Given the description of an element on the screen output the (x, y) to click on. 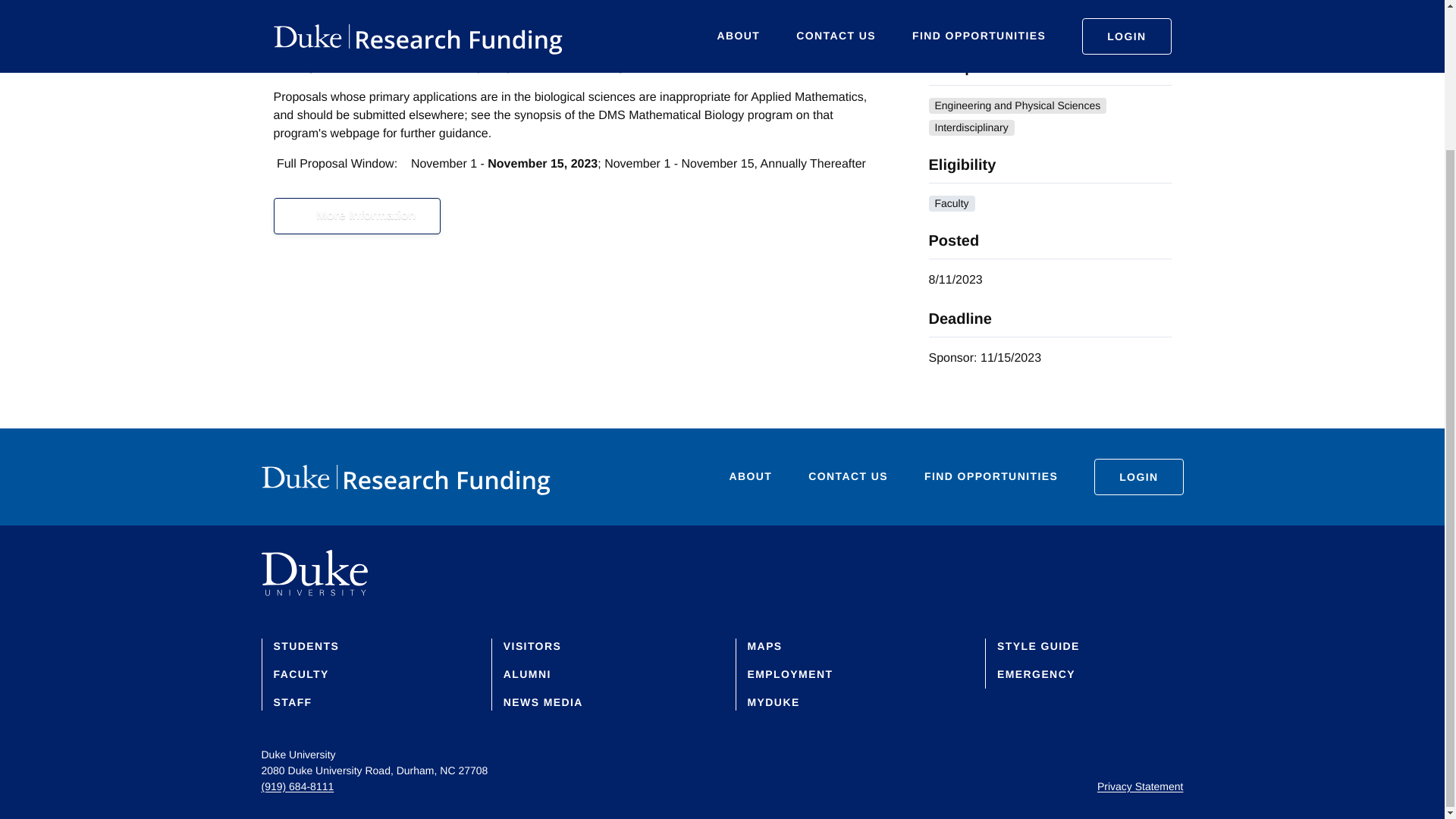
FIND OPPORTUNITIES (991, 476)
STUDENTS (306, 645)
MYDUKE (773, 702)
FACULTY (301, 674)
ABOUT (751, 476)
ALUMNI (527, 674)
More Information (357, 216)
Engineering and Physical Sciences (1017, 105)
Interdisciplinary (970, 127)
LOGIN (1138, 476)
MAPS (765, 645)
NEWS MEDIA (543, 702)
STAFF (292, 702)
STYLE GUIDE (1038, 645)
Privacy Statement (1140, 786)
